Given the description of an element on the screen output the (x, y) to click on. 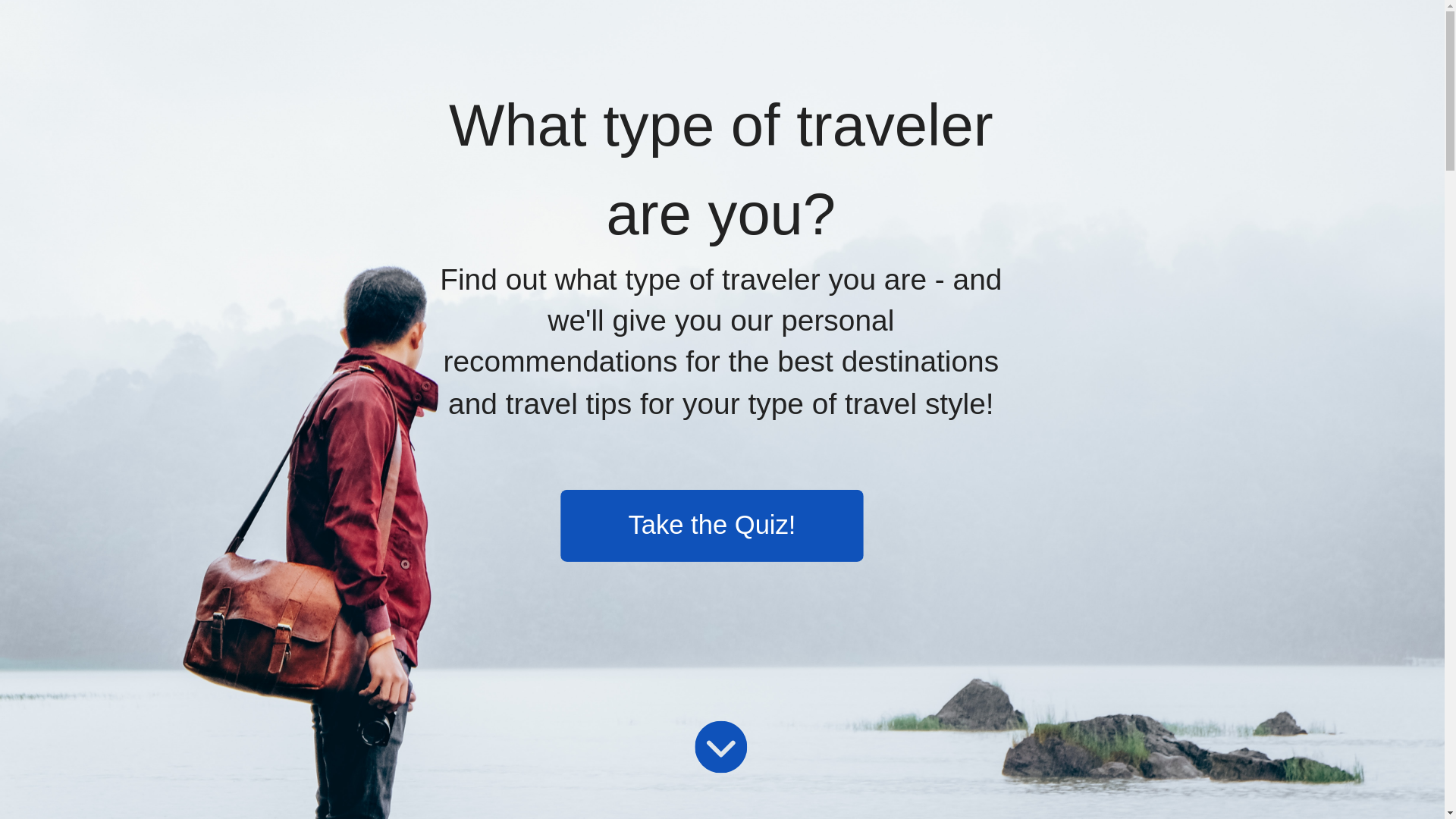
Resources (746, 48)
Take the Quiz! (630, 506)
Podcast (741, 48)
Best Travel Cards (765, 48)
